Given the description of an element on the screen output the (x, y) to click on. 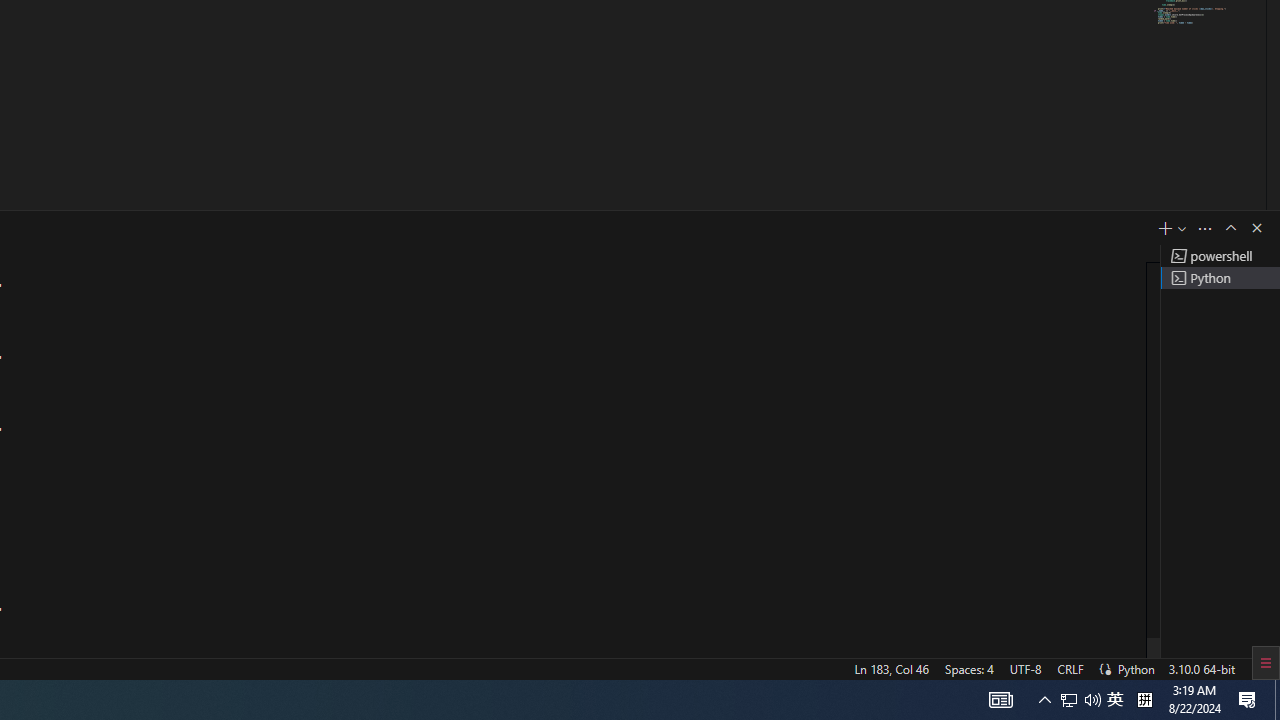
Spaces: 4 (968, 668)
Python (1135, 668)
Views and More Actions... (1205, 227)
UTF-8 (1025, 668)
Hide Panel (1256, 227)
CRLF (1070, 668)
Maximize Panel Size (1230, 227)
Terminal 1 powershell (1220, 255)
Launch Profile... (1181, 227)
